Given the description of an element on the screen output the (x, y) to click on. 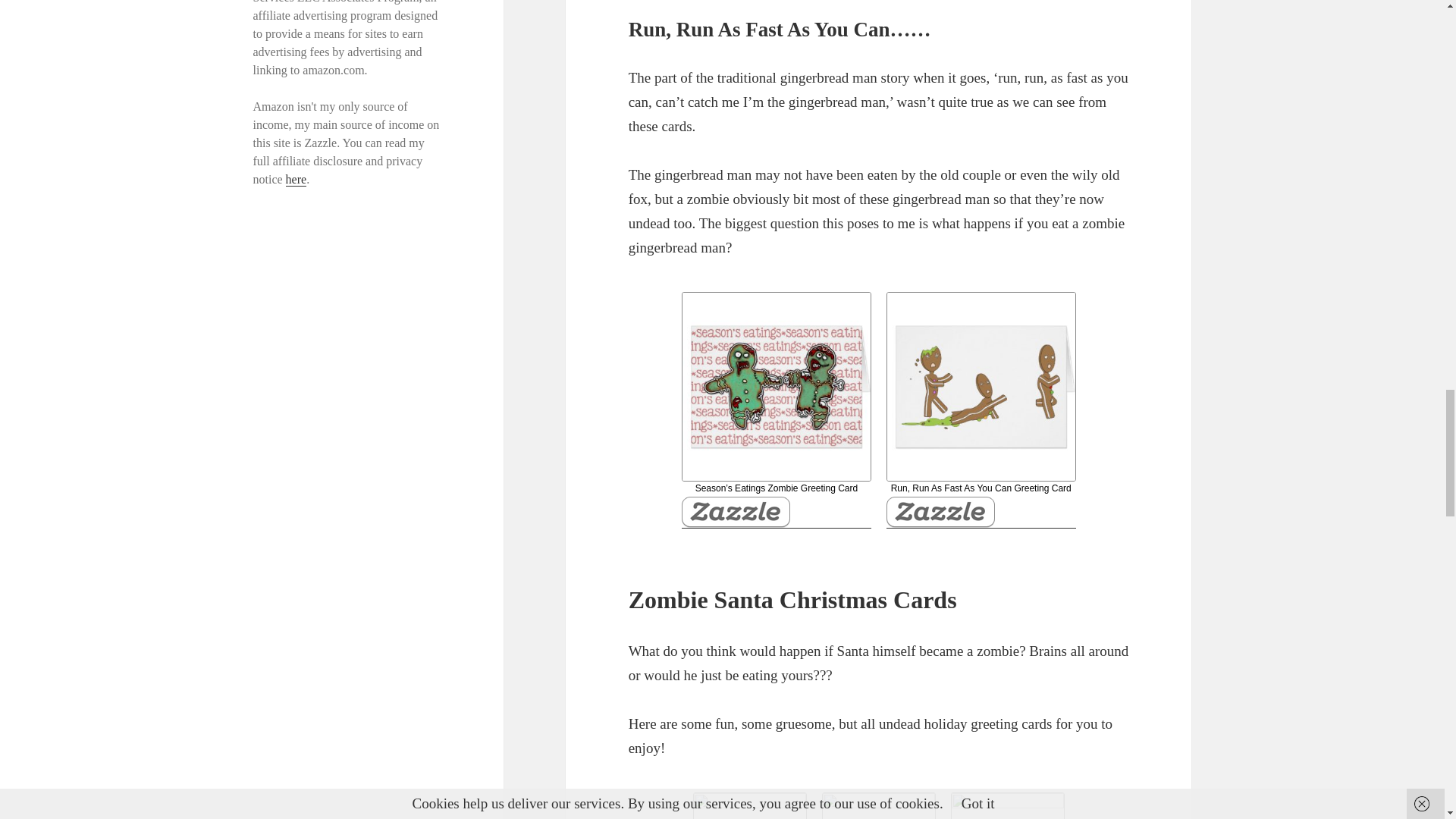
Zombie Santa Christmas Card (749, 805)
here (296, 179)
Mayan Advent Calendar Card (879, 805)
Santa Corpse Zombie Holiday Card (1007, 805)
Santa Corpse Zombie Holiday Card (1007, 805)
Zombie Santa Christmas Card (749, 805)
Mayan Advent Calendar Card (879, 805)
